Given the description of an element on the screen output the (x, y) to click on. 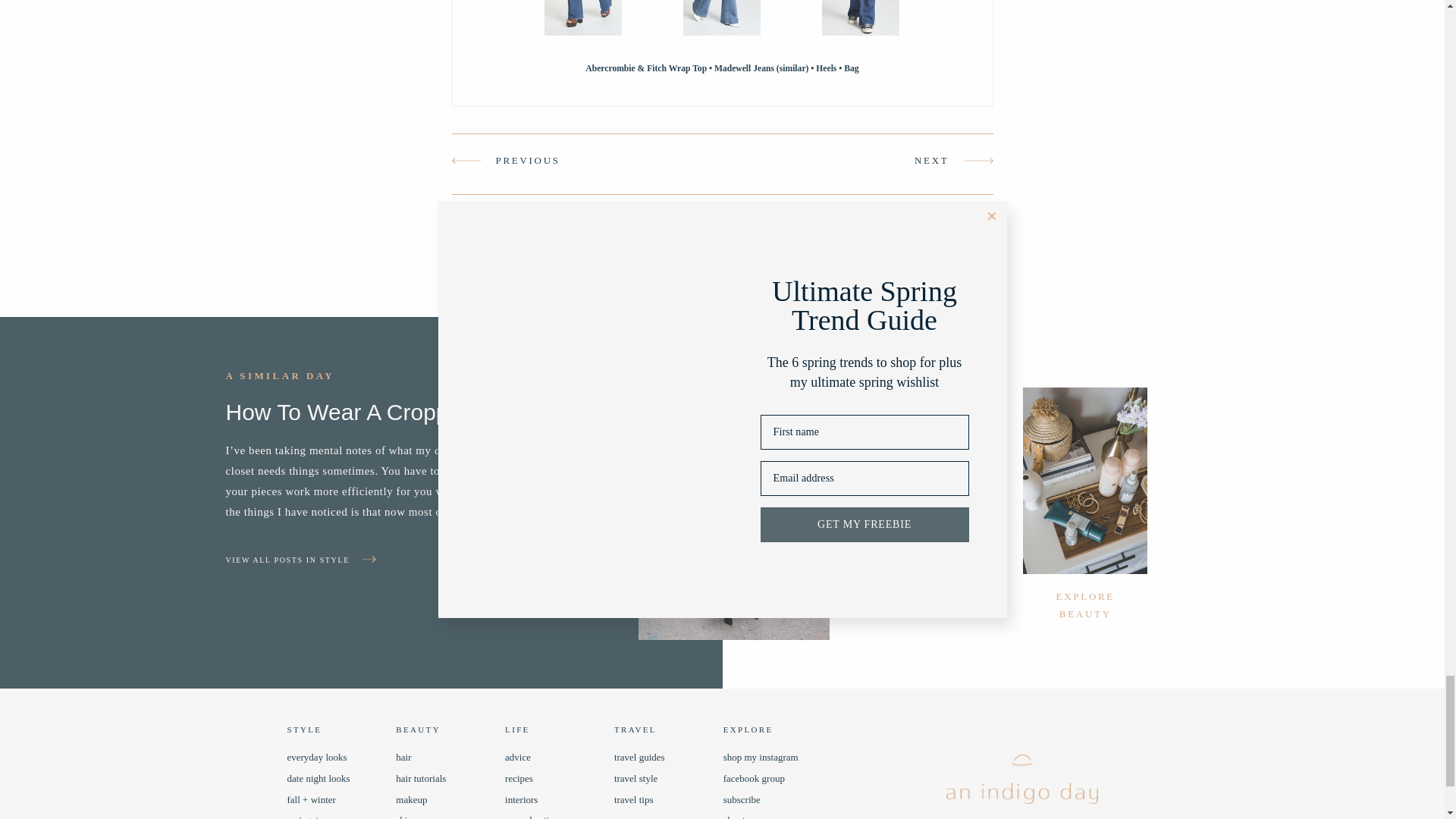
How To Wear A Cropped Sweater (413, 460)
